Given the description of an element on the screen output the (x, y) to click on. 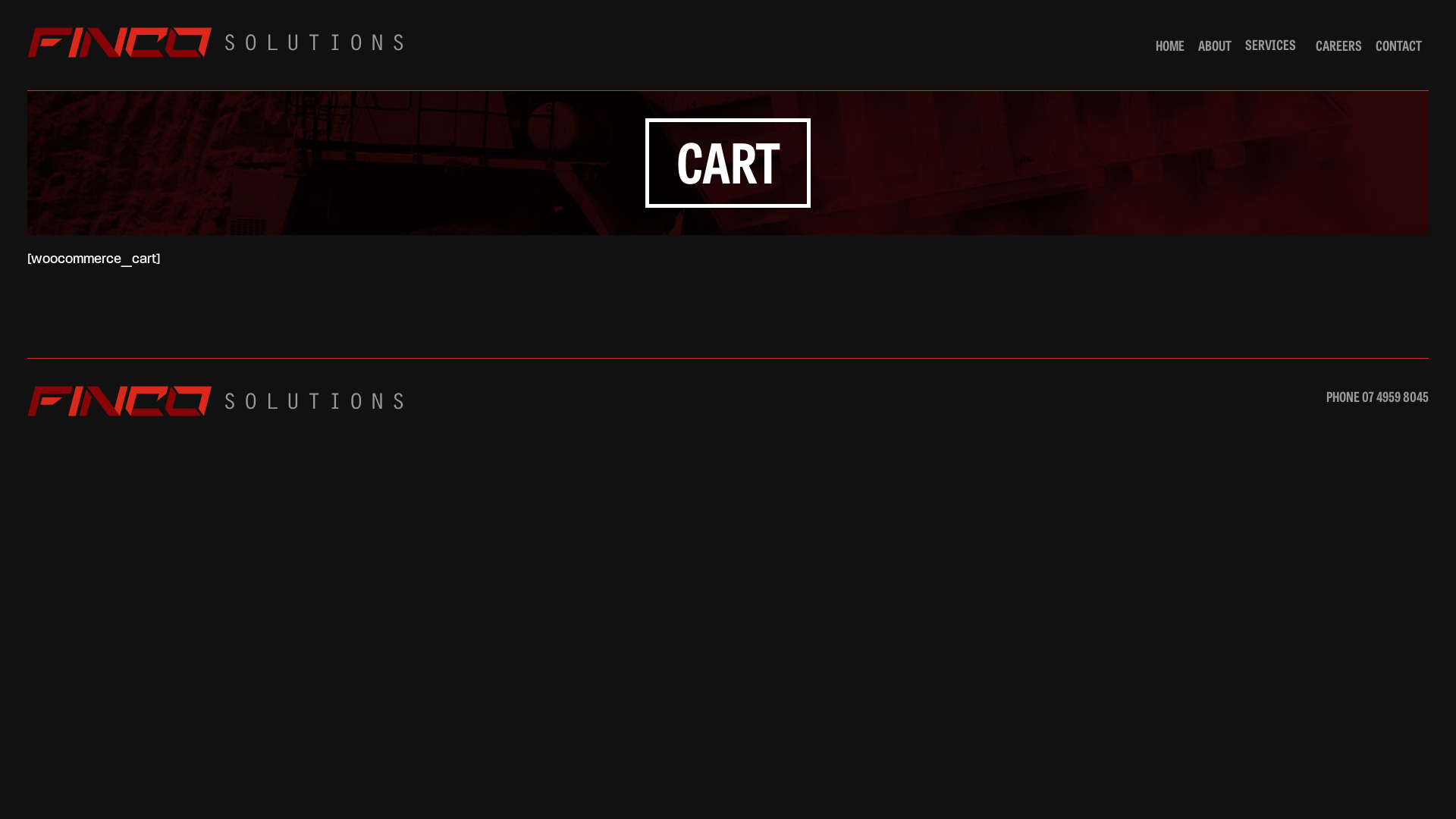
CONTACT Element type: text (1398, 45)
HOME Element type: text (1169, 45)
CAREERS Element type: text (1338, 45)
ABOUT Element type: text (1213, 45)
SERVICES Element type: text (1272, 44)
